Given the description of an element on the screen output the (x, y) to click on. 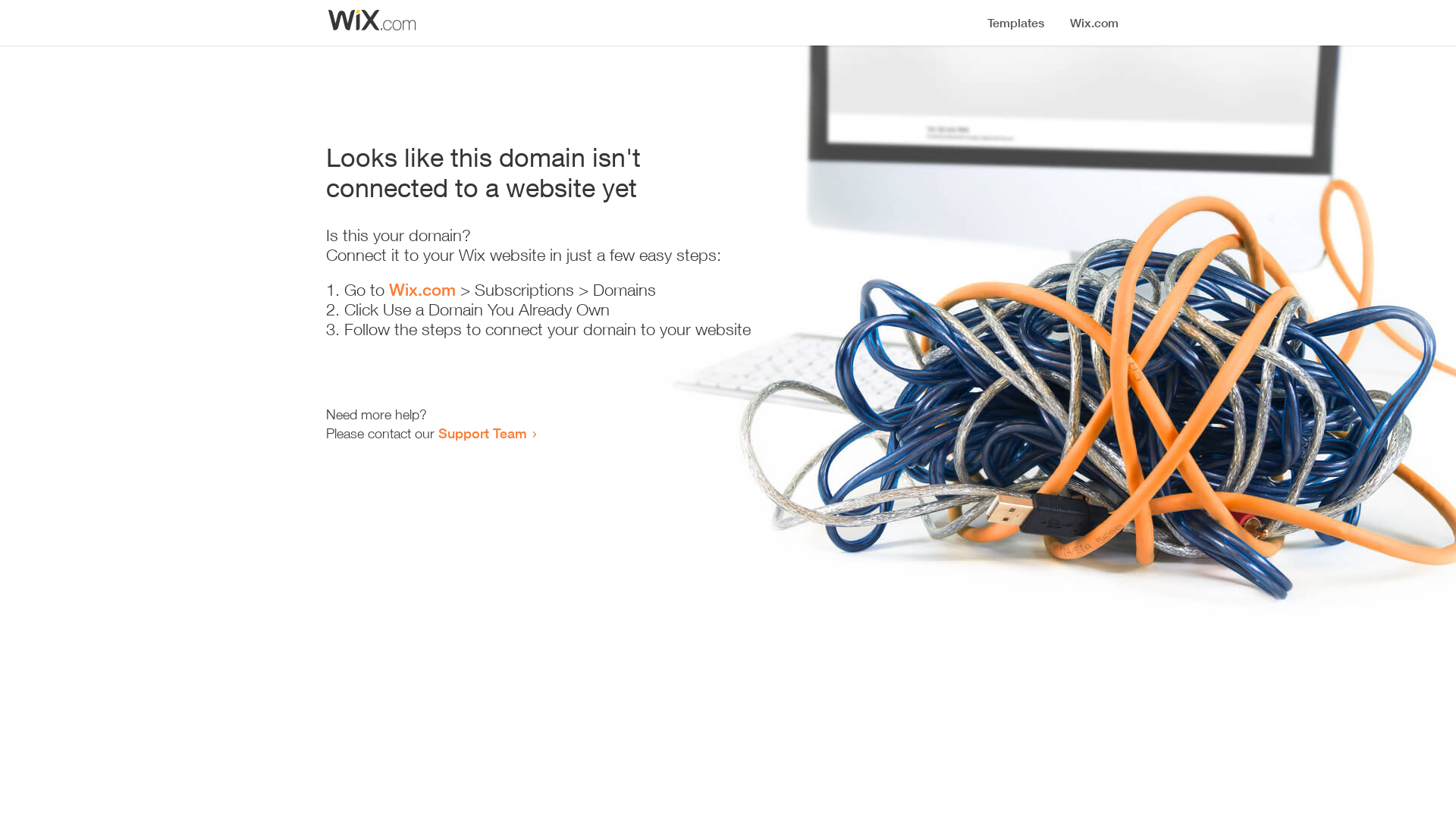
Support Team Element type: text (482, 432)
Wix.com Element type: text (422, 289)
